Given the description of an element on the screen output the (x, y) to click on. 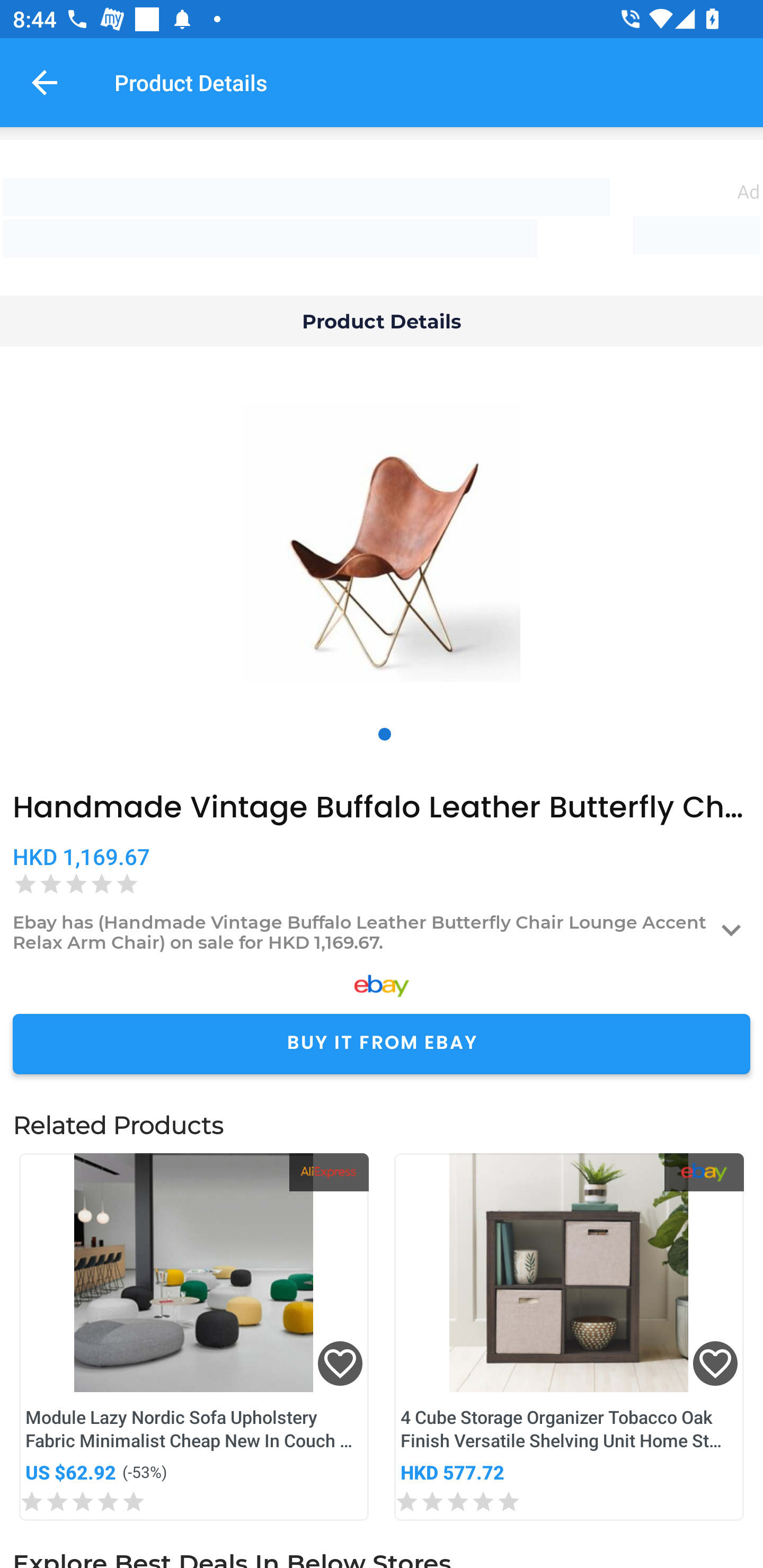
Navigate up (44, 82)
BUY IT FROM EBAY (381, 1044)
